Given the description of an element on the screen output the (x, y) to click on. 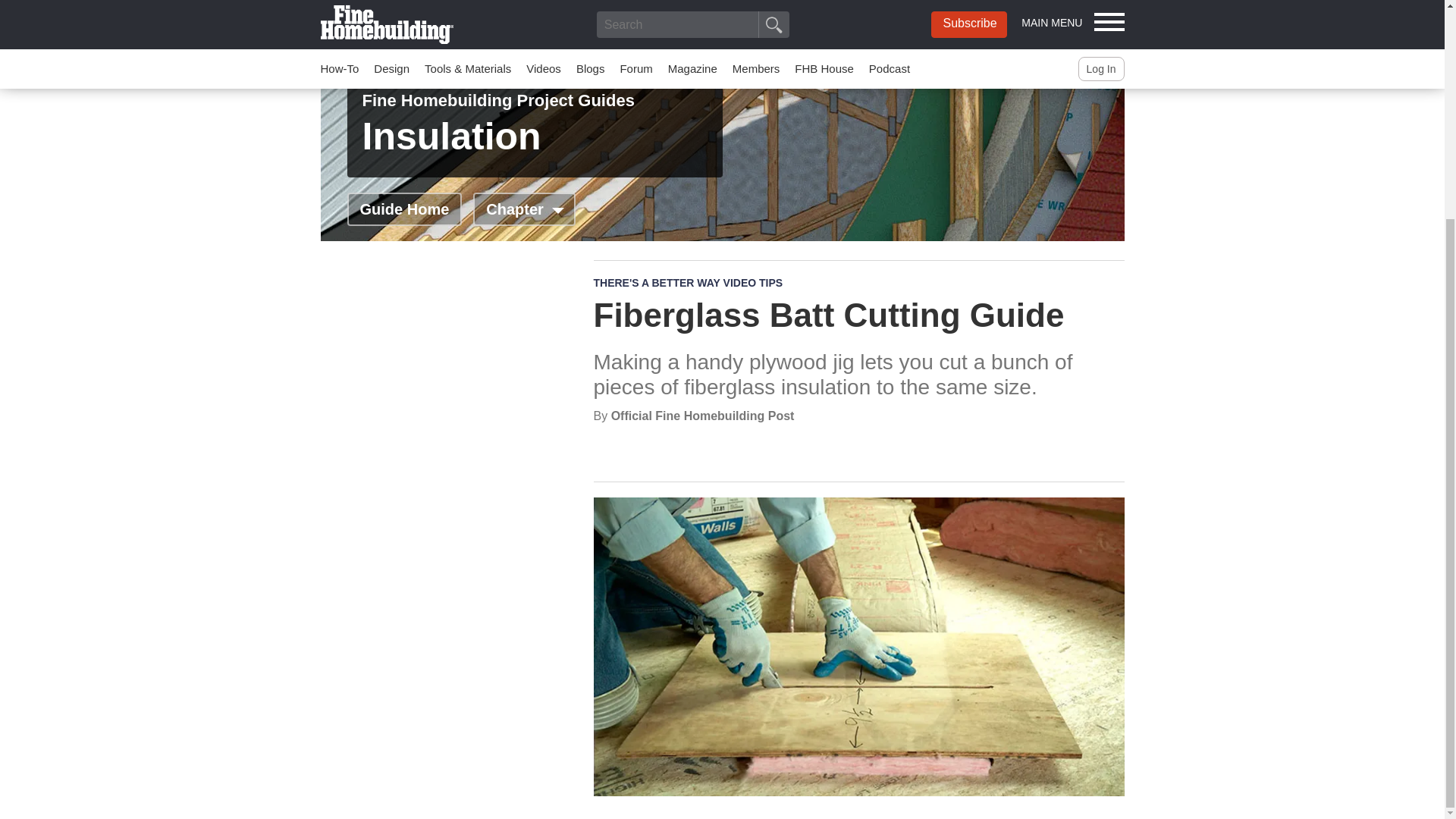
THERE'S A BETTER WAY VIDEO TIPS (687, 282)
Chapter (524, 209)
Toggle Chapter Menu (524, 209)
Official Fine Homebuilding Post (702, 415)
Guide Home (405, 209)
